Given the description of an element on the screen output the (x, y) to click on. 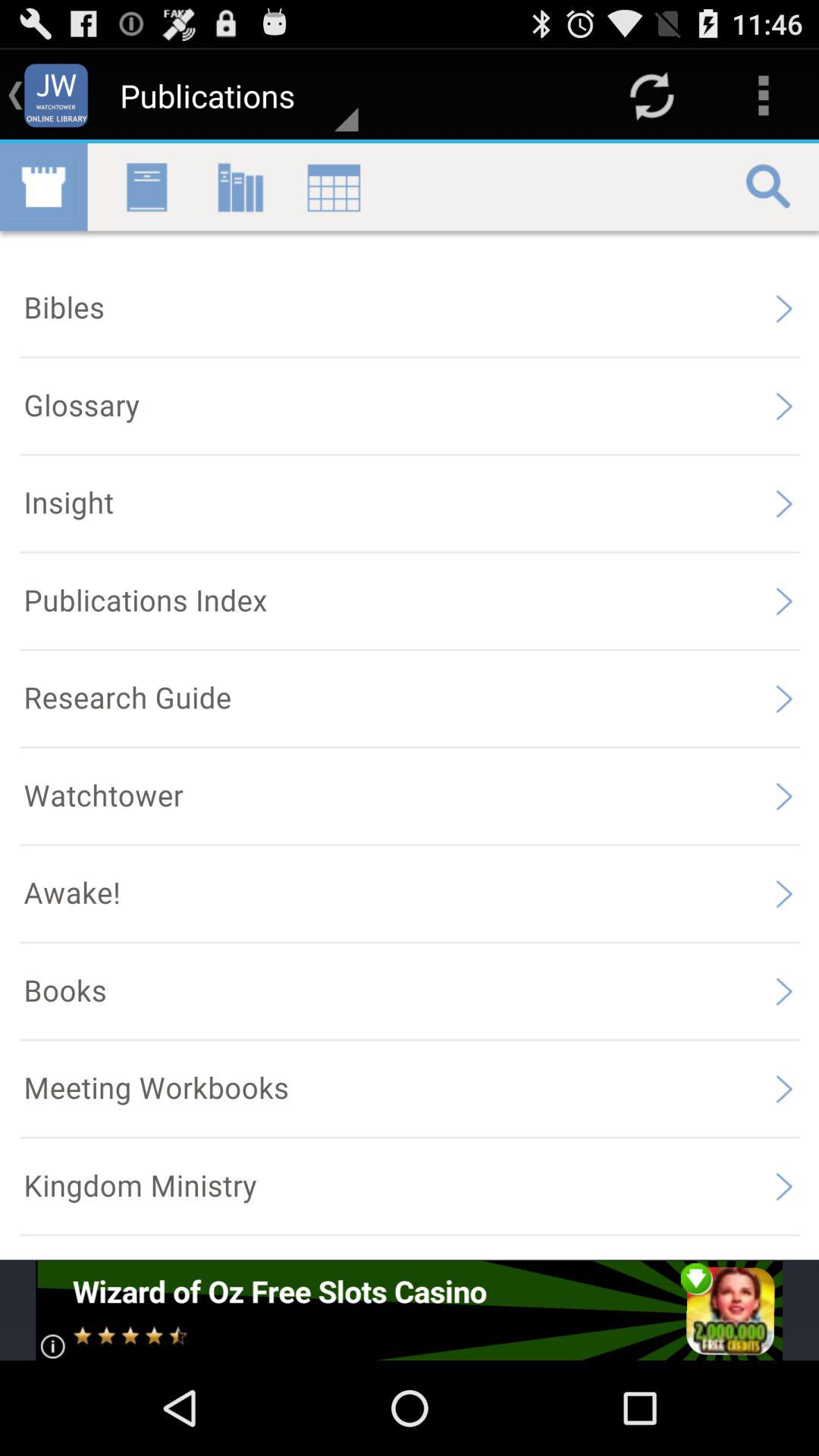
know about the advertisement (408, 1310)
